Given the description of an element on the screen output the (x, y) to click on. 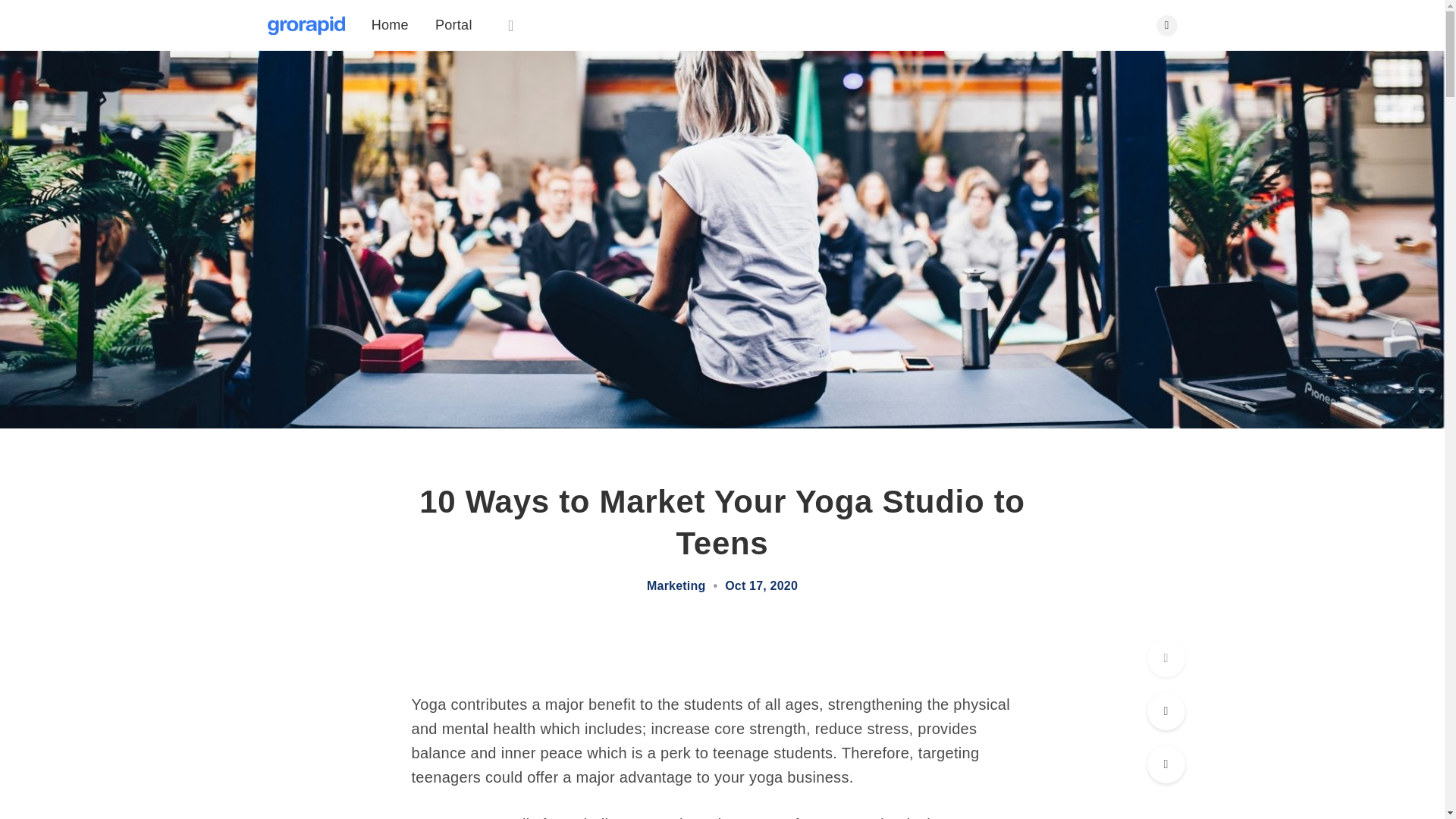
Marketing (675, 585)
Home (390, 24)
Portal (453, 24)
